Given the description of an element on the screen output the (x, y) to click on. 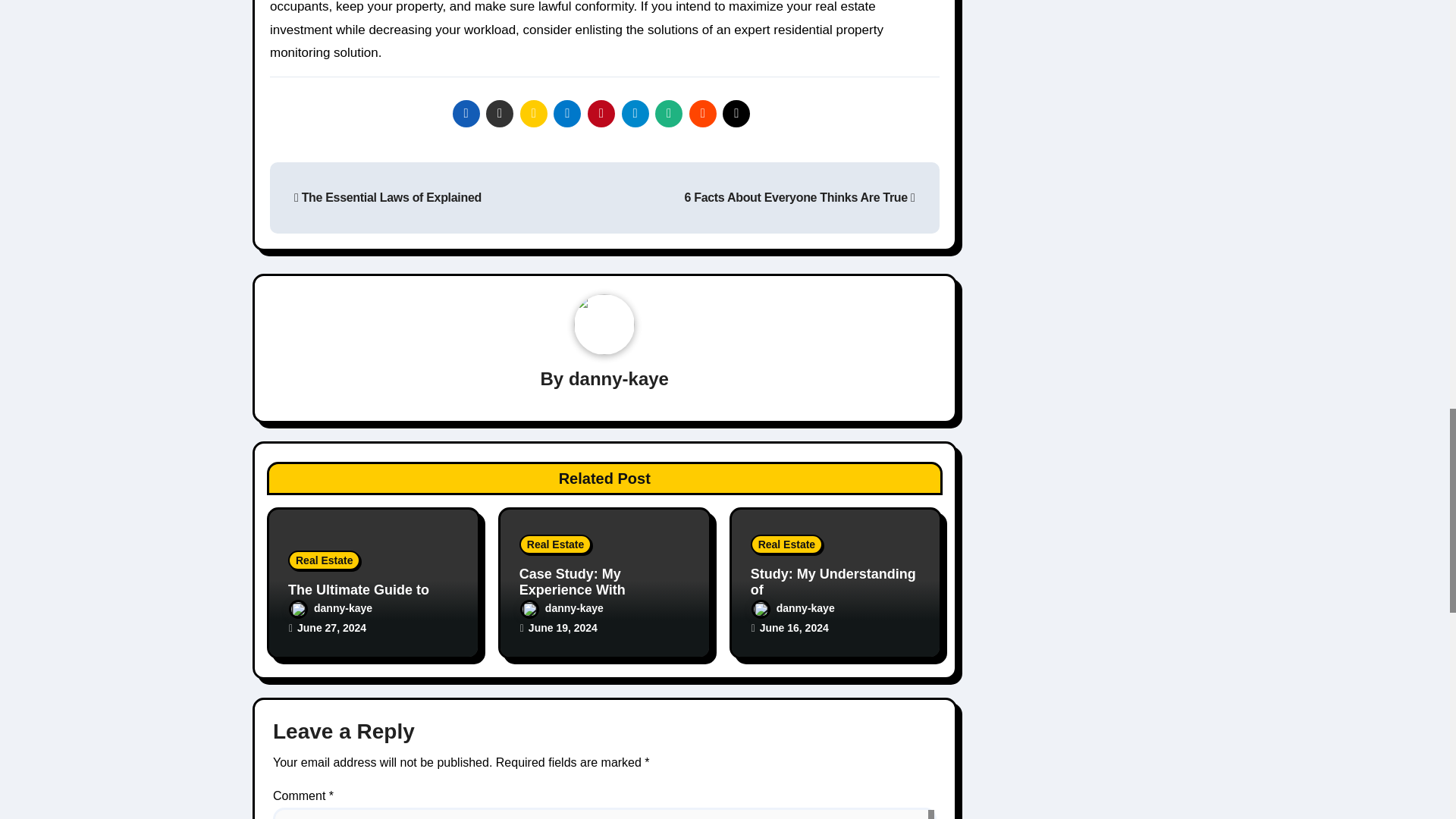
Permalink to: The Ultimate Guide to (358, 589)
Permalink to: Study: My Understanding of (833, 582)
Permalink to: Case Study: My Experience With (572, 582)
